Given the description of an element on the screen output the (x, y) to click on. 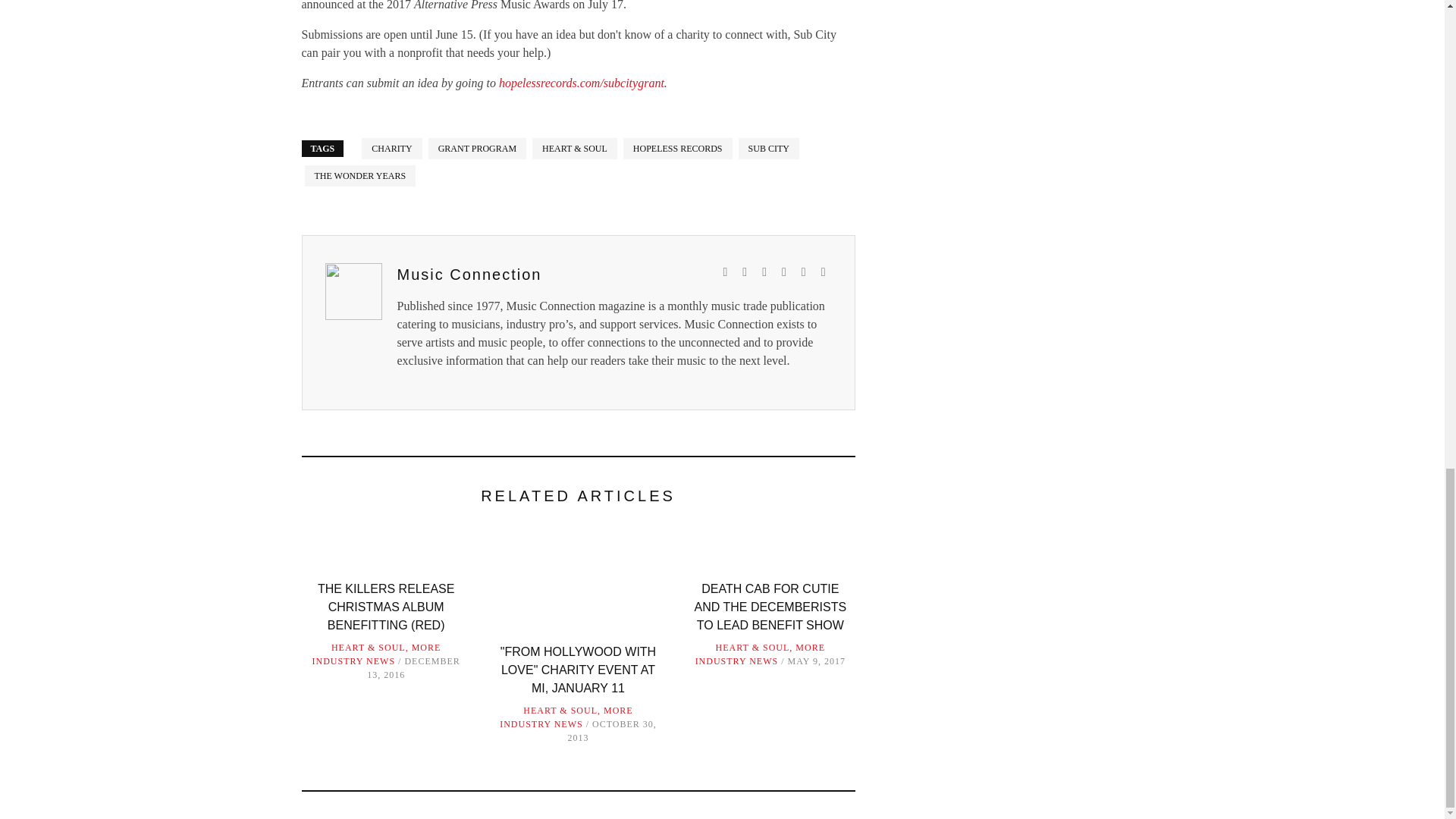
View all posts tagged charity (391, 148)
View all posts tagged The Wonder Years (360, 175)
View all posts tagged Sub City (768, 148)
View all posts tagged Hopeless Records (677, 148)
View all posts tagged grant program (476, 148)
